Given the description of an element on the screen output the (x, y) to click on. 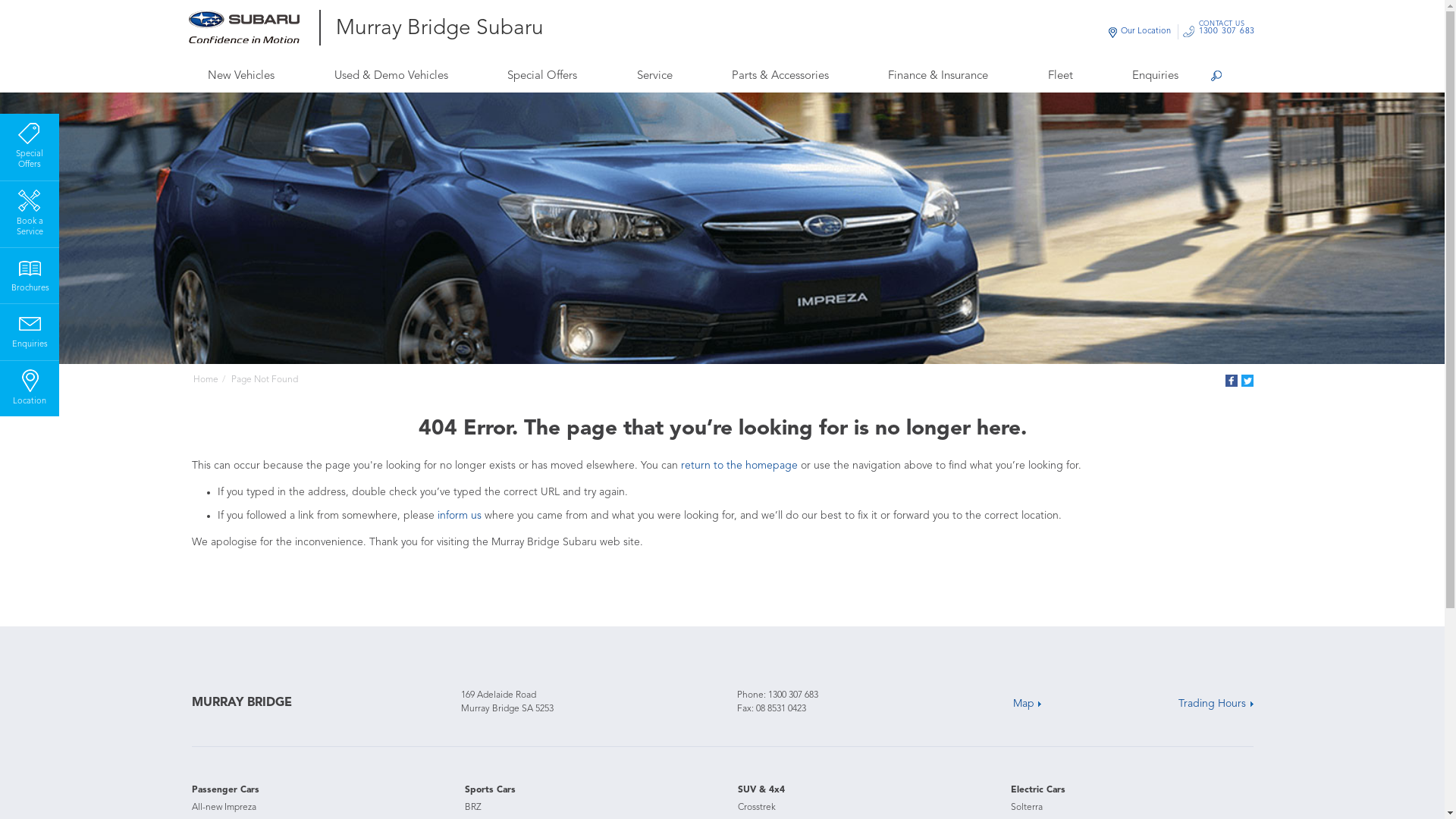
Book a Service Element type: text (29, 211)
New Vehicles Element type: text (241, 76)
Our Location Element type: text (1145, 31)
inform us Element type: text (458, 515)
All-new Impreza Element type: text (223, 807)
Trading Hours Element type: text (1215, 703)
Parts & Accessories Element type: text (779, 76)
Passenger Cars Element type: text (224, 790)
Home Element type: text (204, 379)
CONTACT US
1300 307 683 Element type: text (1226, 31)
Search Element type: text (1215, 76)
Special Offers Element type: text (29, 144)
Brochures Element type: text (29, 272)
Enquiries Element type: text (1155, 76)
Murray Bridge Subaru Element type: hover (254, 27)
BRZ Element type: text (472, 807)
Facebook Element type: hover (1231, 380)
Special Offers Element type: text (541, 76)
return to the homepage Element type: text (738, 465)
Service Element type: text (654, 76)
Twitter Element type: hover (1246, 380)
Fleet Element type: text (1059, 76)
Used & Demo Vehicles Element type: text (390, 76)
SUV & 4x4 Element type: text (760, 790)
Solterra Element type: text (1025, 807)
Map Element type: text (1027, 703)
Enquiries Element type: text (29, 328)
Location Element type: text (29, 385)
Sports Cars Element type: text (489, 790)
Finance & Insurance Element type: text (938, 76)
Murray Bridge Subaru Element type: text (438, 29)
Crosstrek Element type: text (756, 807)
1300 307 683 Element type: text (792, 694)
Electric Cars Element type: text (1037, 790)
